Given the description of an element on the screen output the (x, y) to click on. 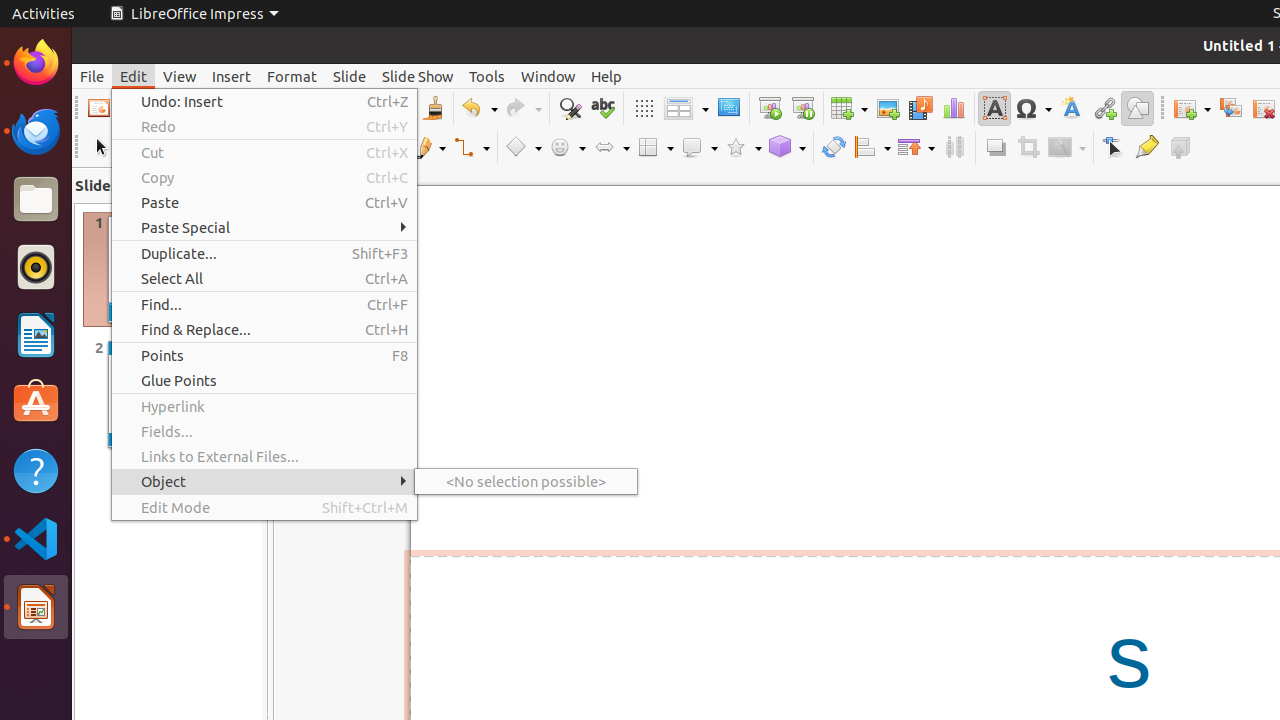
Tools Element type: menu (487, 76)
<No selection possible> Element type: menu-item (526, 481)
Edit Element type: menu (133, 76)
Paste Special Element type: menu (264, 227)
